Given the description of an element on the screen output the (x, y) to click on. 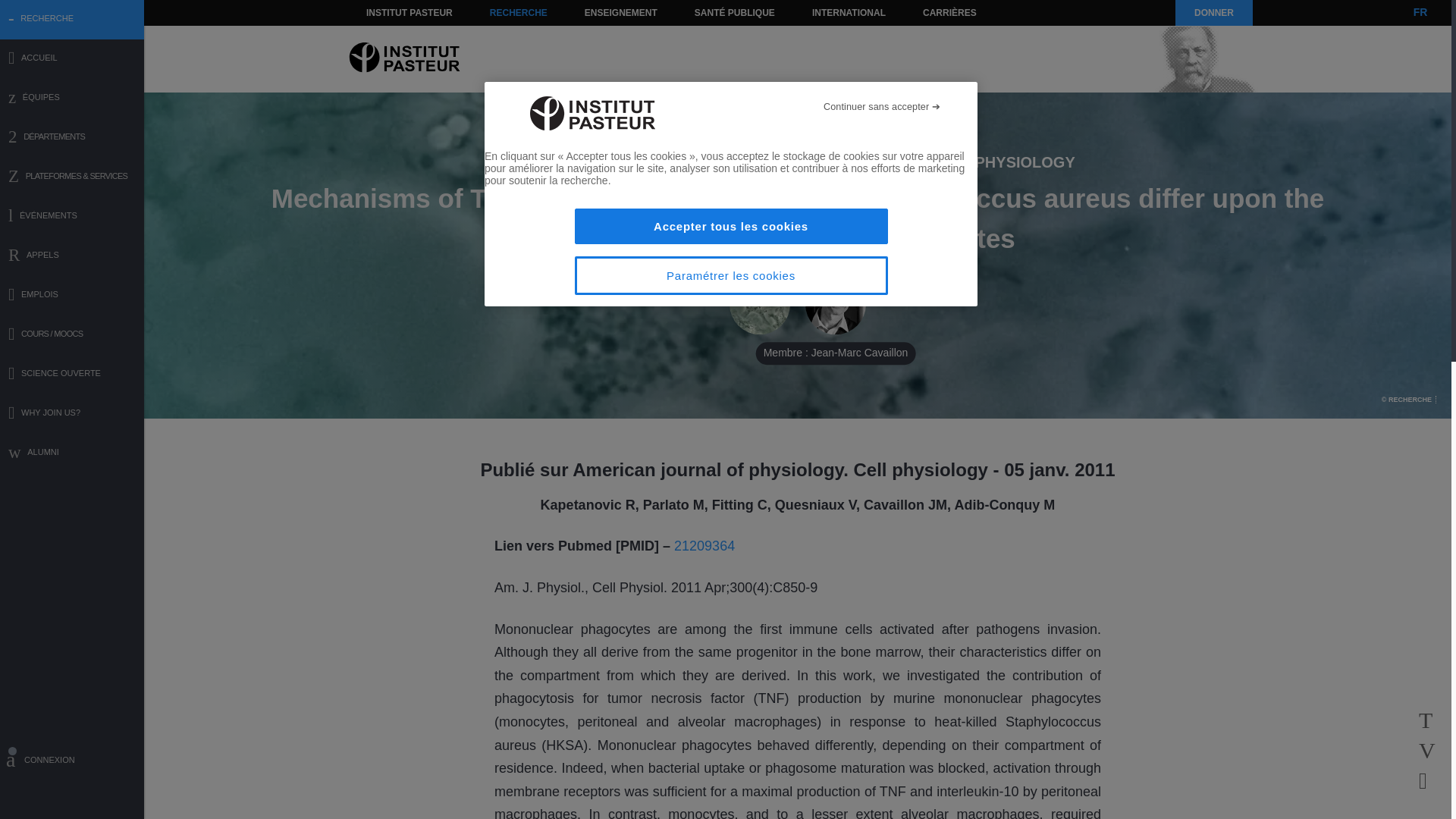
Aller au contenu (391, 11)
CONNEXION (72, 762)
EMPLOIS (72, 296)
INTERNATIONAL (848, 12)
APPELS (72, 256)
ACCUEIL (72, 59)
Aller au contenu (391, 11)
DONNER (1213, 12)
WHY JOIN US? (72, 413)
SCIENCE OUVERTE (72, 374)
21209364 (704, 545)
FR (1419, 11)
ENSEIGNEMENT (620, 12)
INSTITUT PASTEUR (409, 12)
ALUMNI (72, 454)
